Given the description of an element on the screen output the (x, y) to click on. 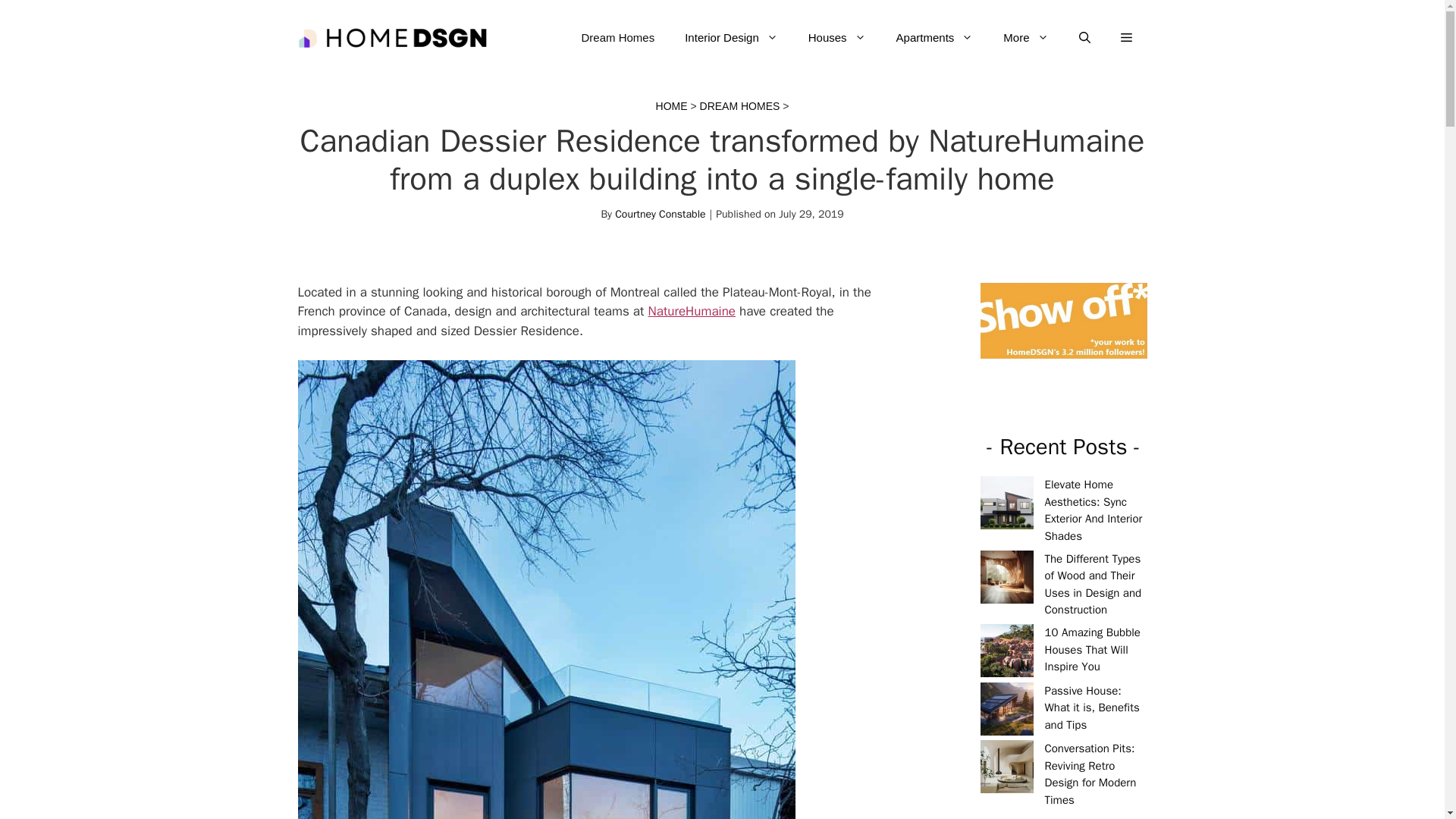
Apartments (934, 37)
Interior Design (731, 37)
Show-off-your-work (1063, 320)
More (1025, 37)
Dream Homes (617, 37)
Houses (836, 37)
